Given the description of an element on the screen output the (x, y) to click on. 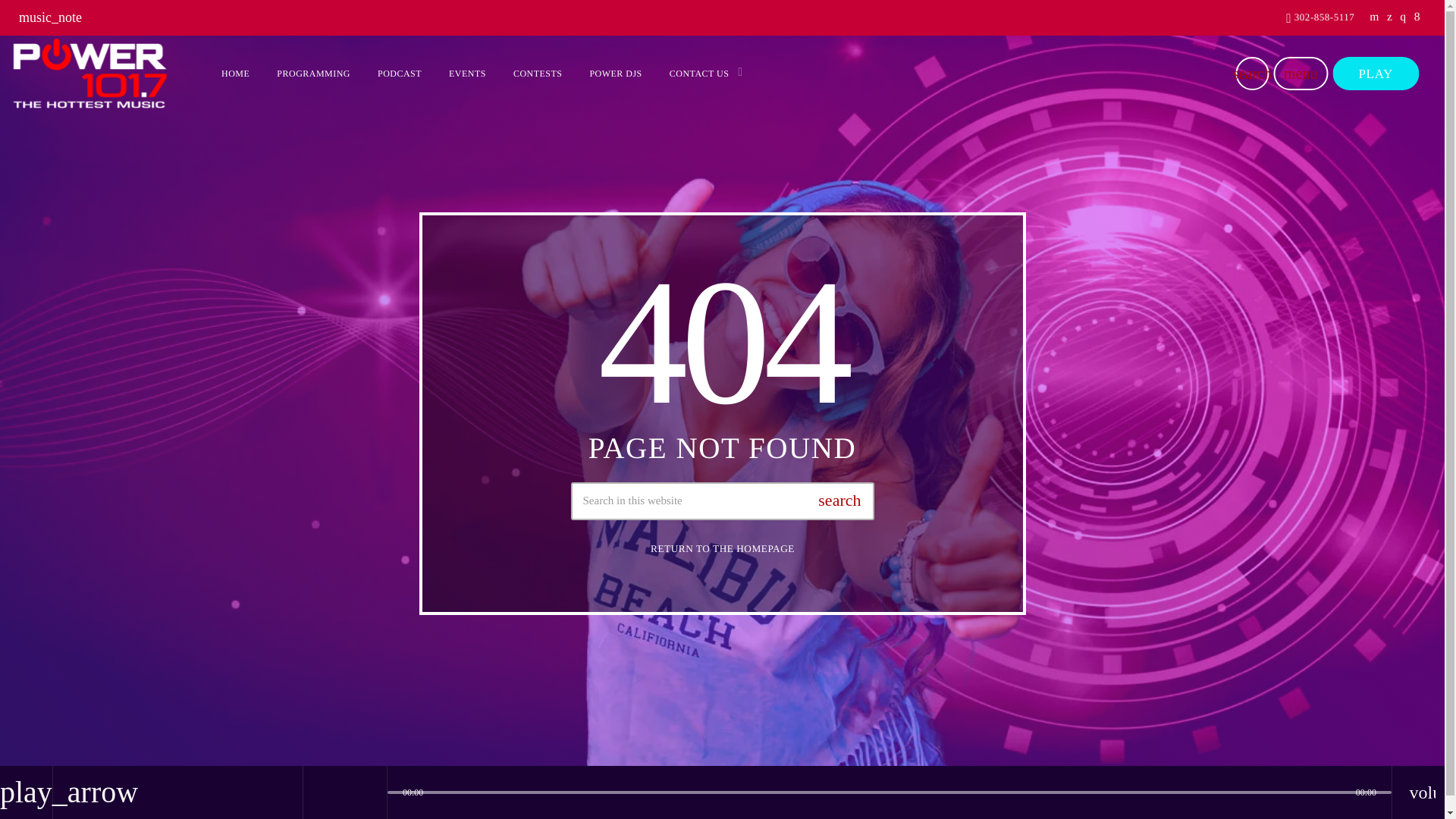
search (1251, 73)
PODCAST (399, 73)
PLAY (1375, 73)
PROGRAMMING (313, 73)
HOME (235, 73)
POWER DJS (615, 73)
menu (1299, 73)
CONTESTS (537, 73)
302-858-5117 (1320, 17)
EVENTS (467, 73)
